Given the description of an element on the screen output the (x, y) to click on. 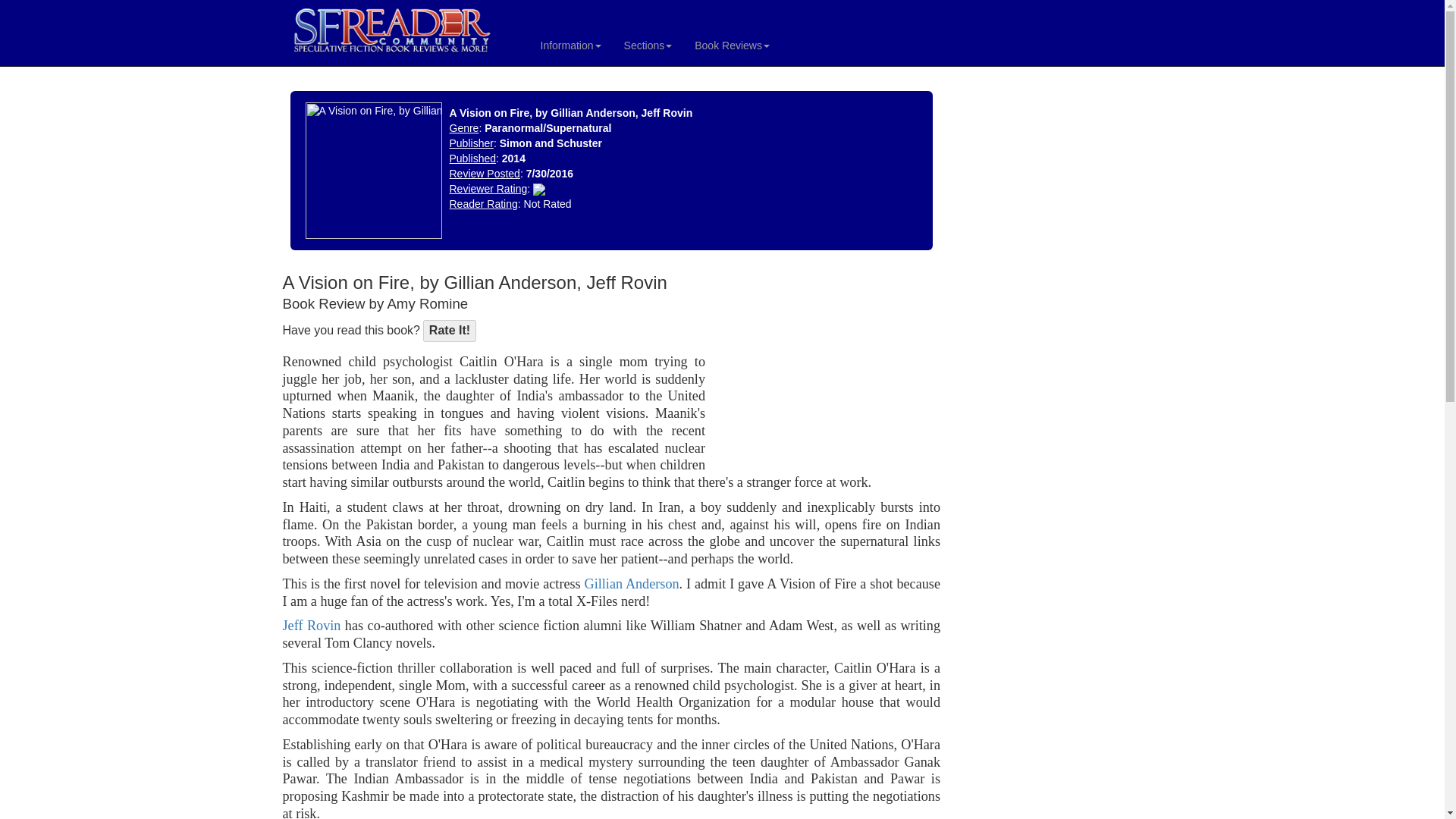
Gillian Anderson (632, 583)
Information (570, 45)
Sections (648, 45)
Jeff Rovin (311, 625)
Book Reviews (731, 45)
Rate It! (449, 331)
Rate It! (449, 331)
